Given the description of an element on the screen output the (x, y) to click on. 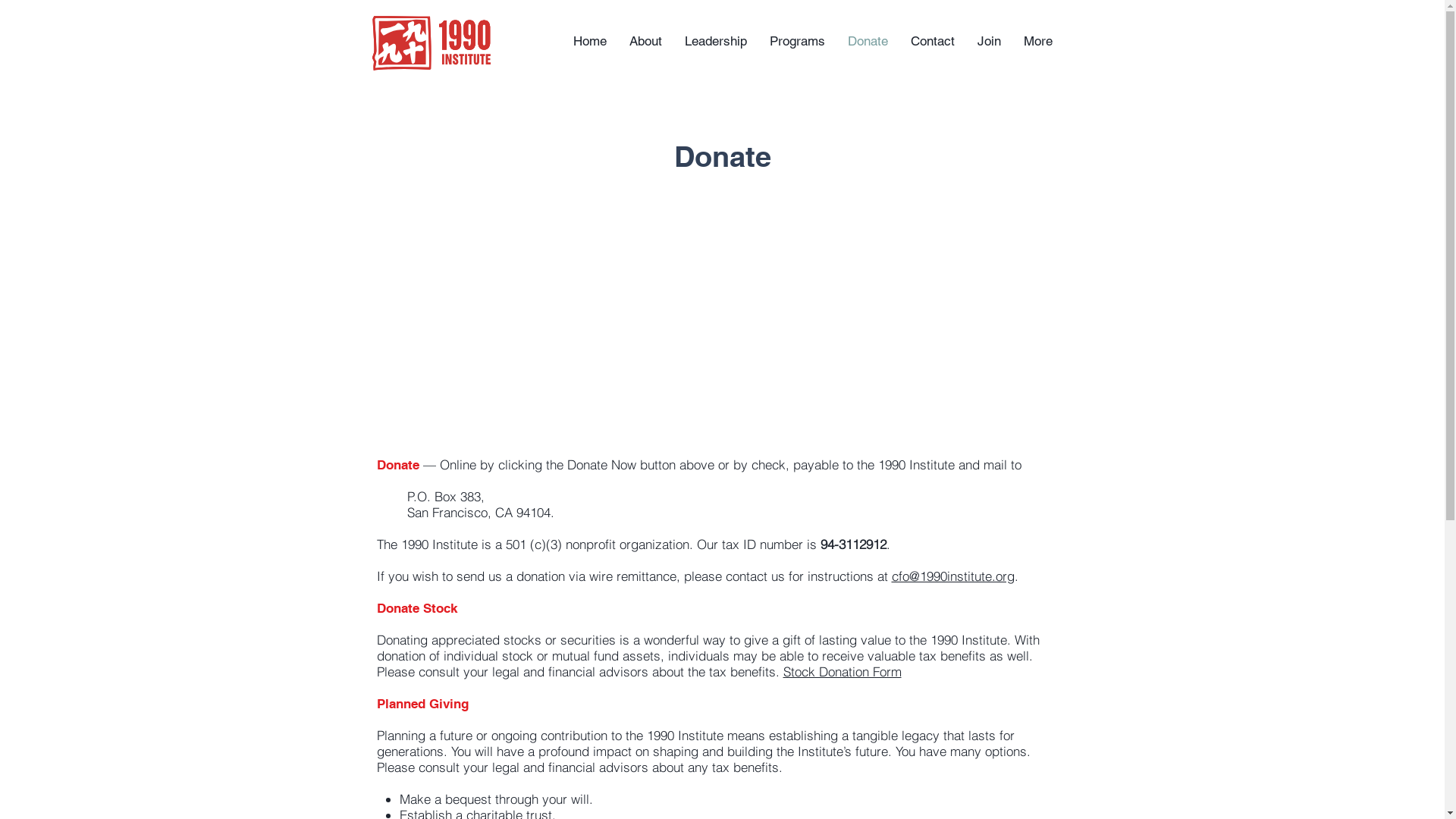
cfo@1990institute.org Element type: text (952, 575)
Embedded Content Element type: hover (721, 423)
Join Element type: text (989, 40)
Stock Donation Form Element type: text (841, 671)
Donate Element type: text (866, 40)
About Element type: text (644, 40)
Home Element type: text (589, 40)
Leadership Element type: text (715, 40)
Programs Element type: text (797, 40)
Contact Element type: text (932, 40)
